Given the description of an element on the screen output the (x, y) to click on. 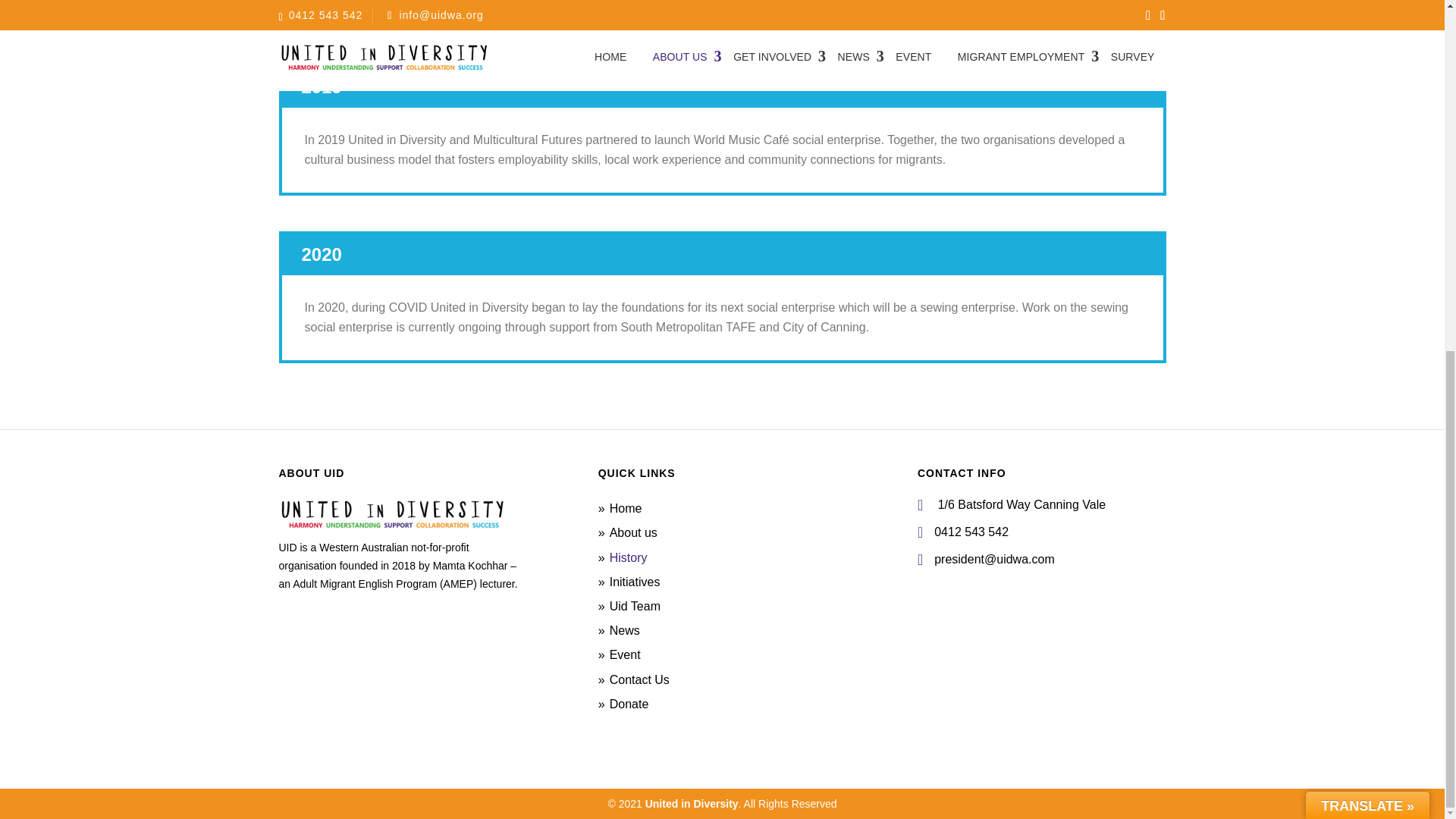
United in Diversity (691, 803)
Event (625, 654)
About us (634, 532)
Donate (629, 703)
Home (626, 508)
History (628, 557)
Uid Team (635, 605)
Initiatives (635, 581)
News (625, 630)
Contact Us (639, 678)
